Given the description of an element on the screen output the (x, y) to click on. 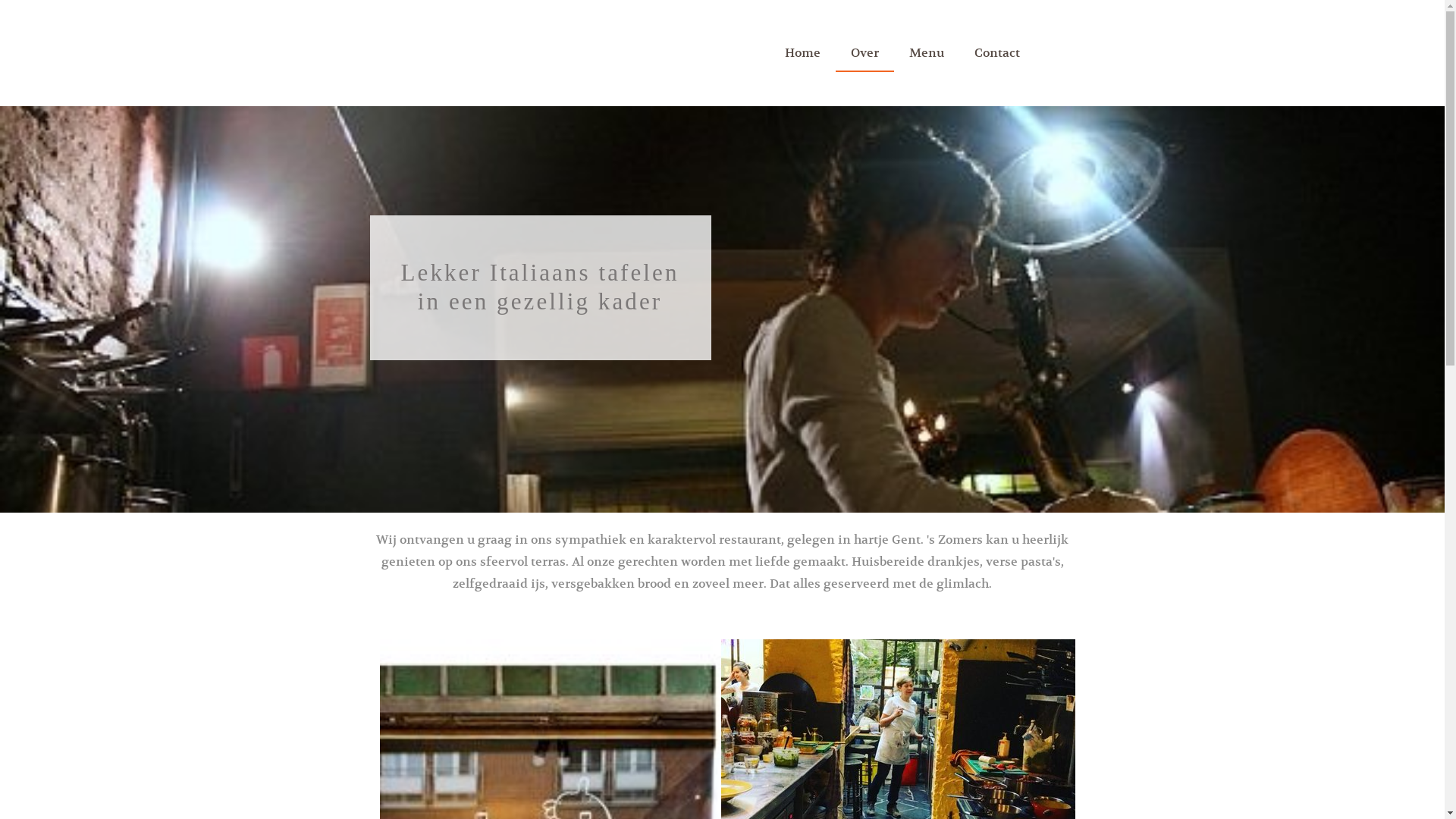
Over Element type: text (864, 53)
Contact Element type: text (996, 53)
Home Element type: text (801, 53)
Menu Element type: text (925, 53)
